Given the description of an element on the screen output the (x, y) to click on. 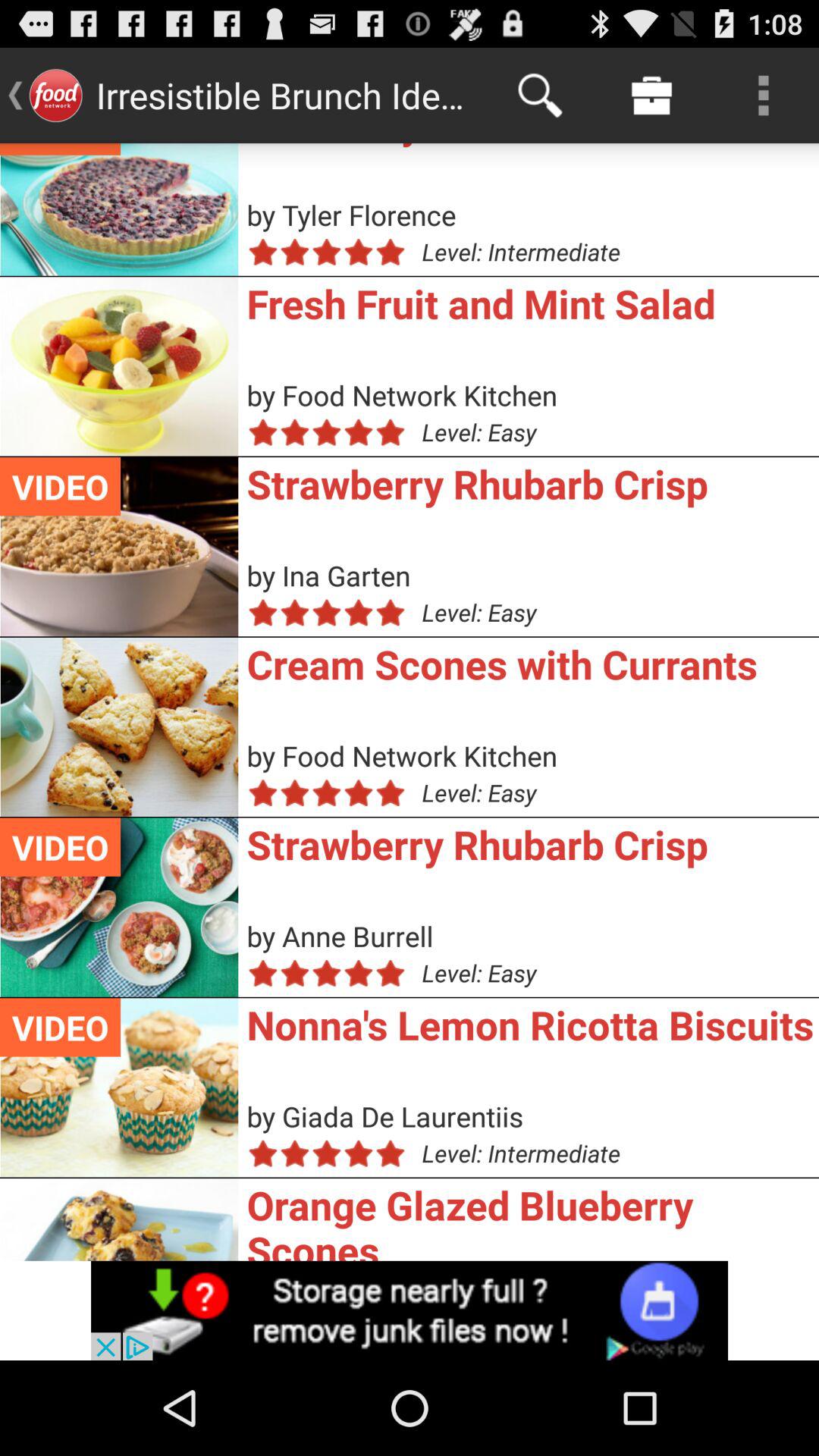
advertisement page (409, 1310)
